Given the description of an element on the screen output the (x, y) to click on. 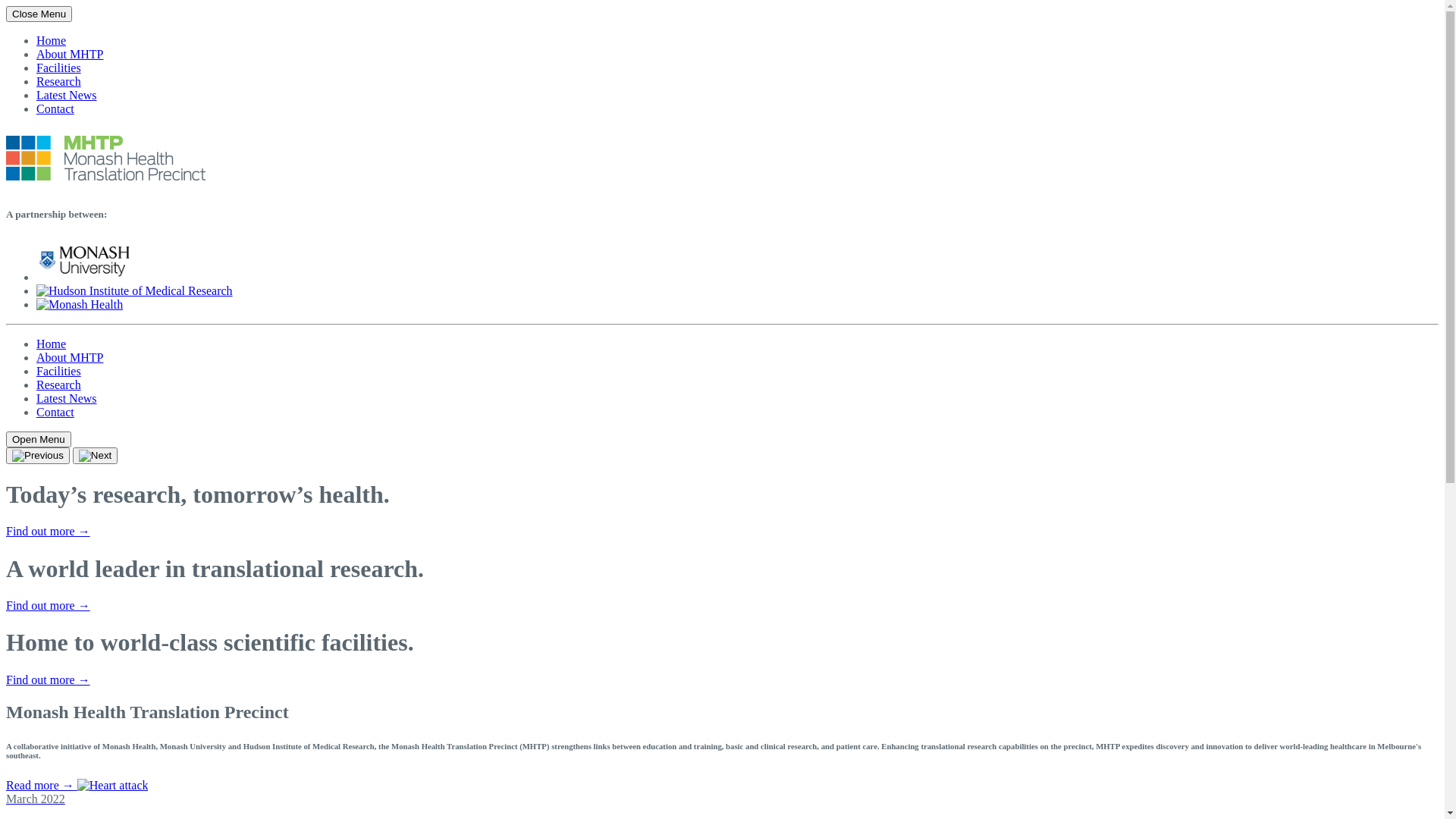
About MHTP Element type: text (69, 53)
Research Element type: text (58, 81)
Open Menu Element type: text (38, 439)
Research Element type: text (58, 384)
Close Menu Element type: text (39, 13)
About MHTP Element type: text (69, 357)
Facilities Element type: text (58, 67)
Contact Element type: text (55, 411)
Contact Element type: text (55, 108)
Facilities Element type: text (58, 370)
Home Element type: text (50, 343)
Latest News Element type: text (66, 94)
Latest News Element type: text (66, 398)
Home Element type: text (50, 40)
